Given the description of an element on the screen output the (x, y) to click on. 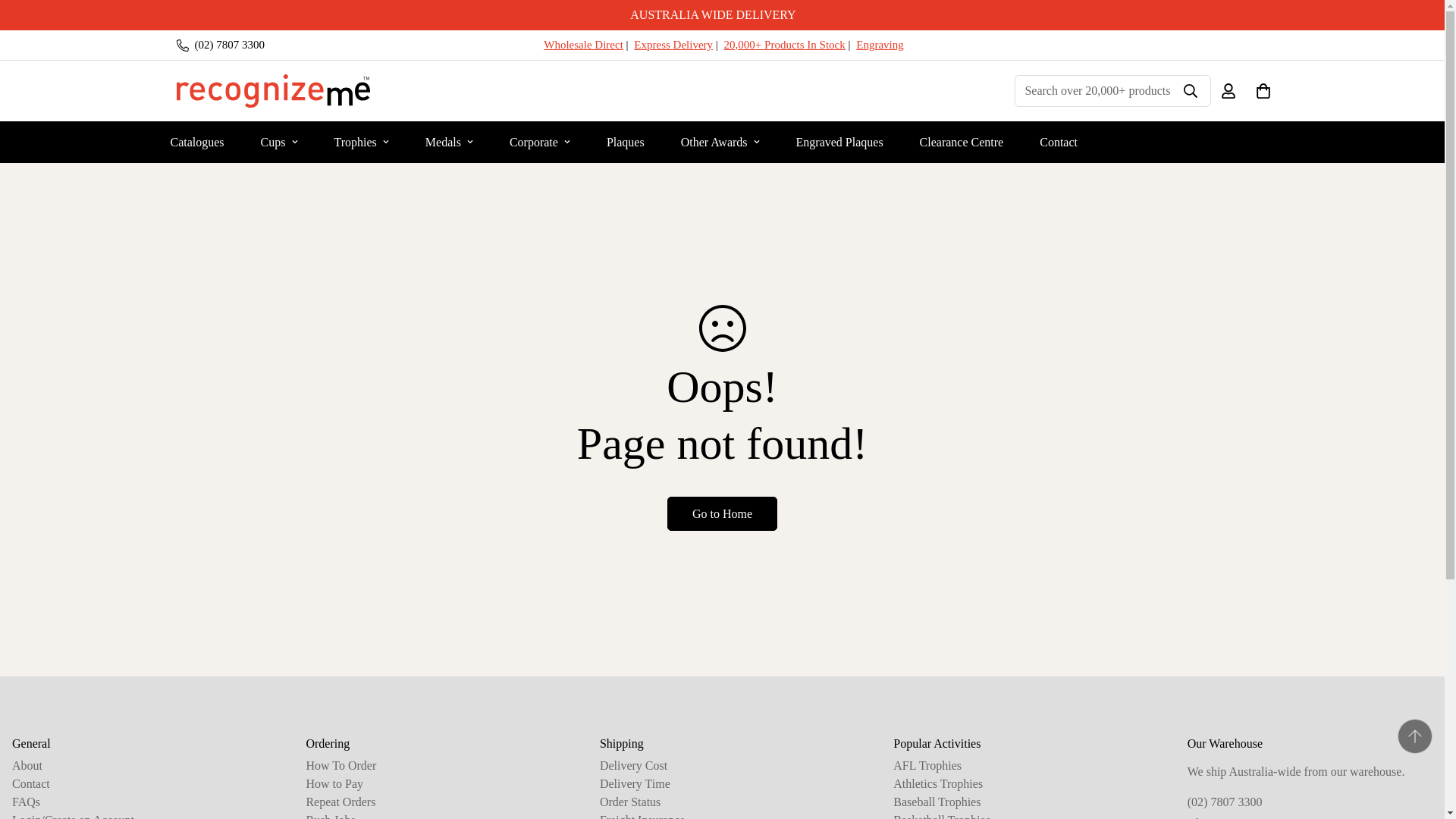
Trophies (360, 141)
AUSTRALIA WIDE DELIVERY (722, 15)
Wholesale Direct (583, 44)
Catalogues (196, 141)
Cups (279, 141)
Recognizeme (272, 90)
Engraving (879, 44)
Express Delivery (673, 44)
